Given the description of an element on the screen output the (x, y) to click on. 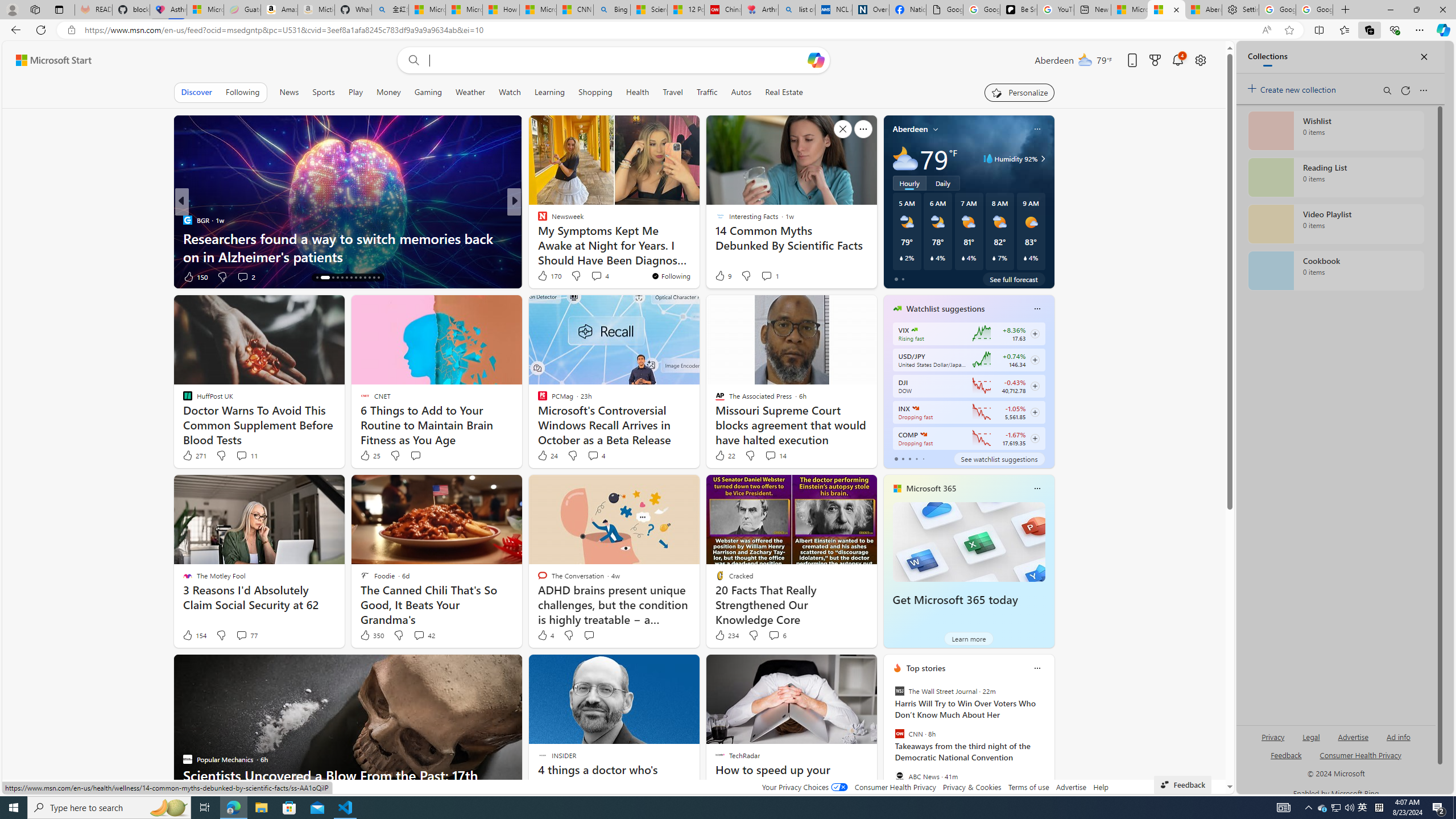
View comments 34 Comment (597, 276)
154 Like (193, 634)
You're following Newsweek (670, 275)
Mostly cloudy (904, 158)
Stacker (537, 219)
next (1047, 741)
View comments 4 Comment (596, 455)
